Given the description of an element on the screen output the (x, y) to click on. 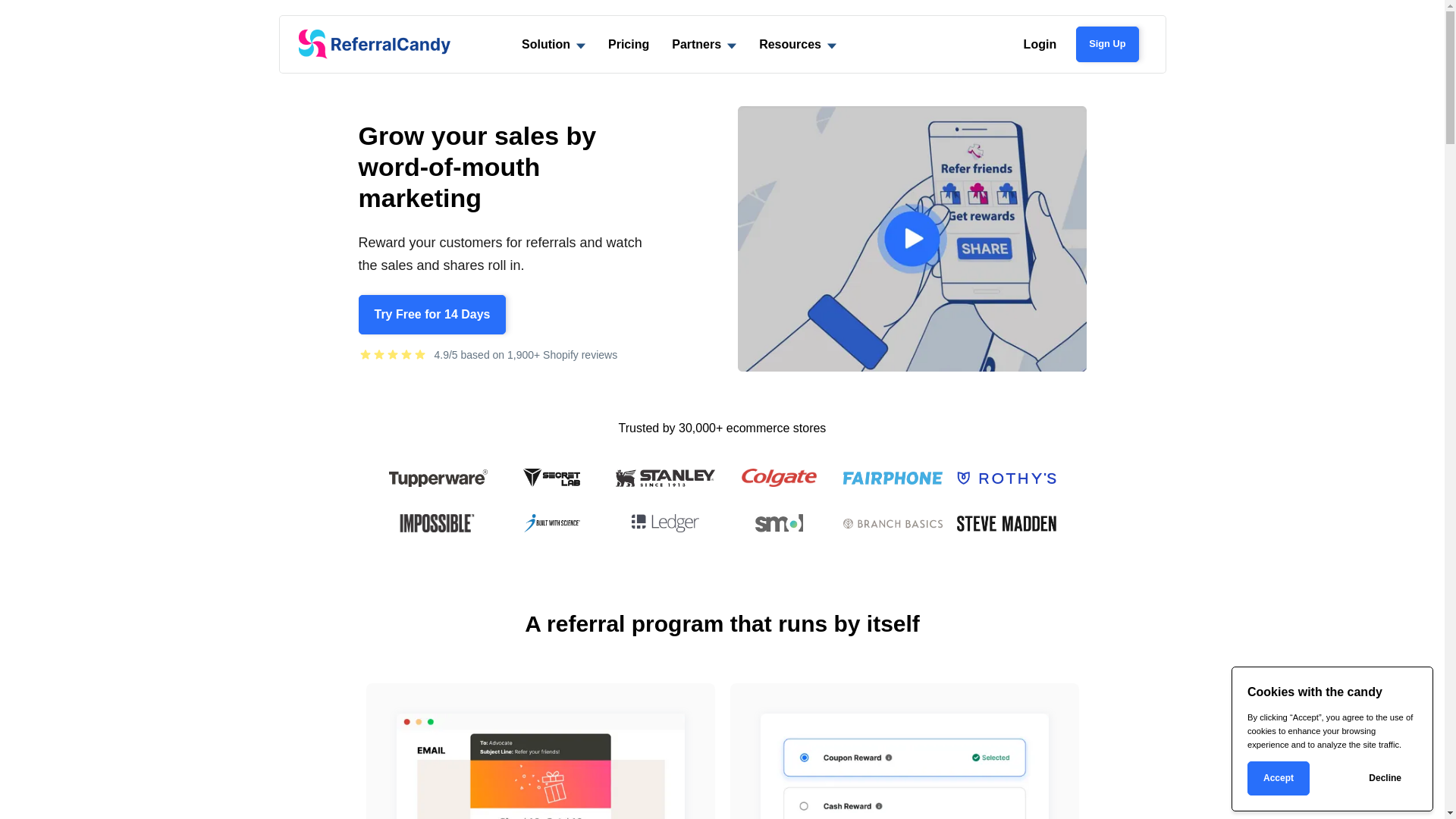
Decline Element type: text (1384, 778)
Pricing Element type: text (628, 43)
Sign Up Element type: text (1107, 43)
Try Free for 14 Days Element type: text (431, 314)
Login Element type: text (1040, 43)
Accept Element type: text (1278, 778)
